Given the description of an element on the screen output the (x, y) to click on. 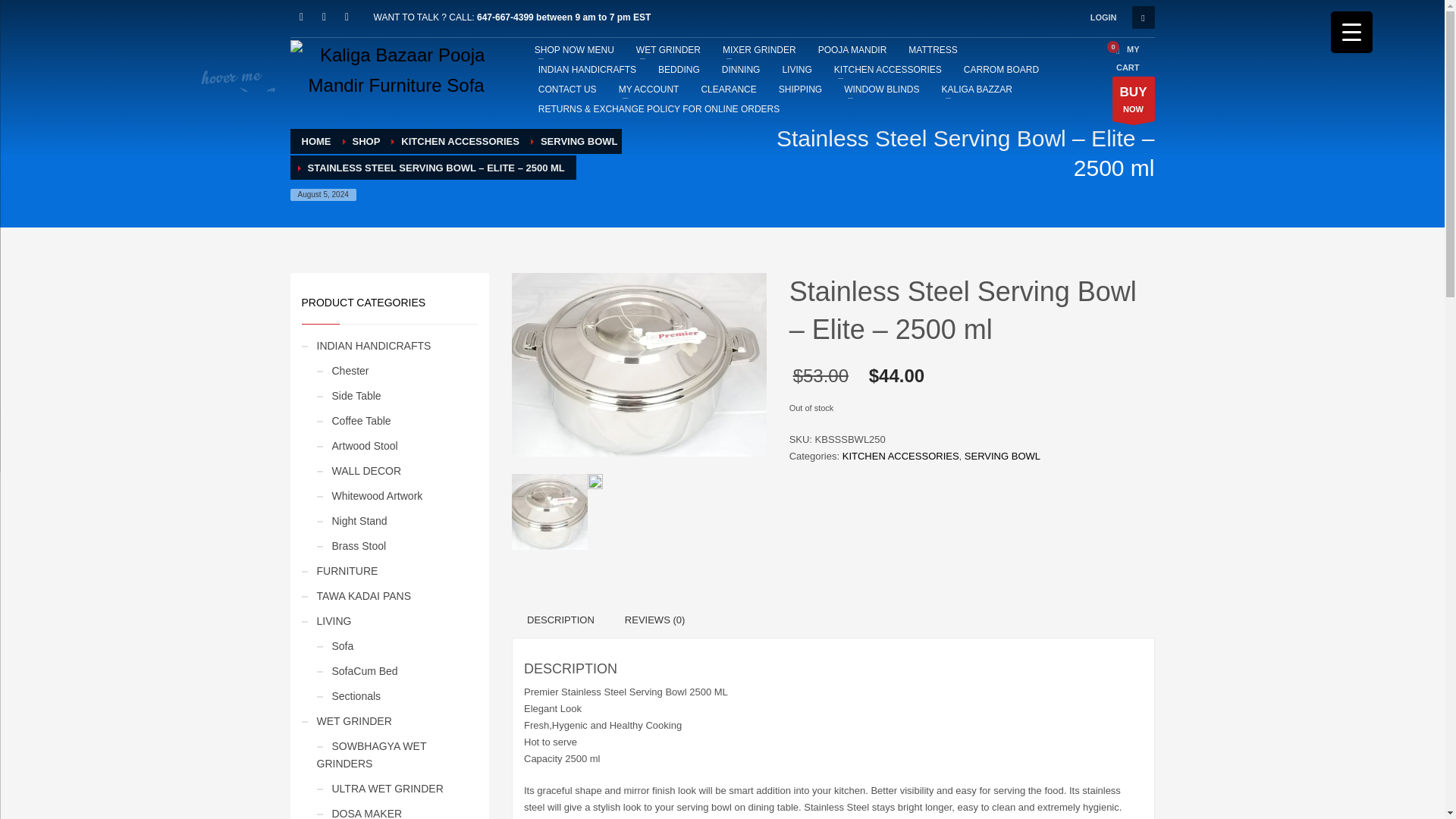
Pinterest (346, 16)
SHOP NOW MENU (574, 49)
647-667-4399 between 9 am to 7 pm EST (563, 17)
Facebook (301, 16)
LOGIN (1103, 17)
Twitter (323, 16)
